Given the description of an element on the screen output the (x, y) to click on. 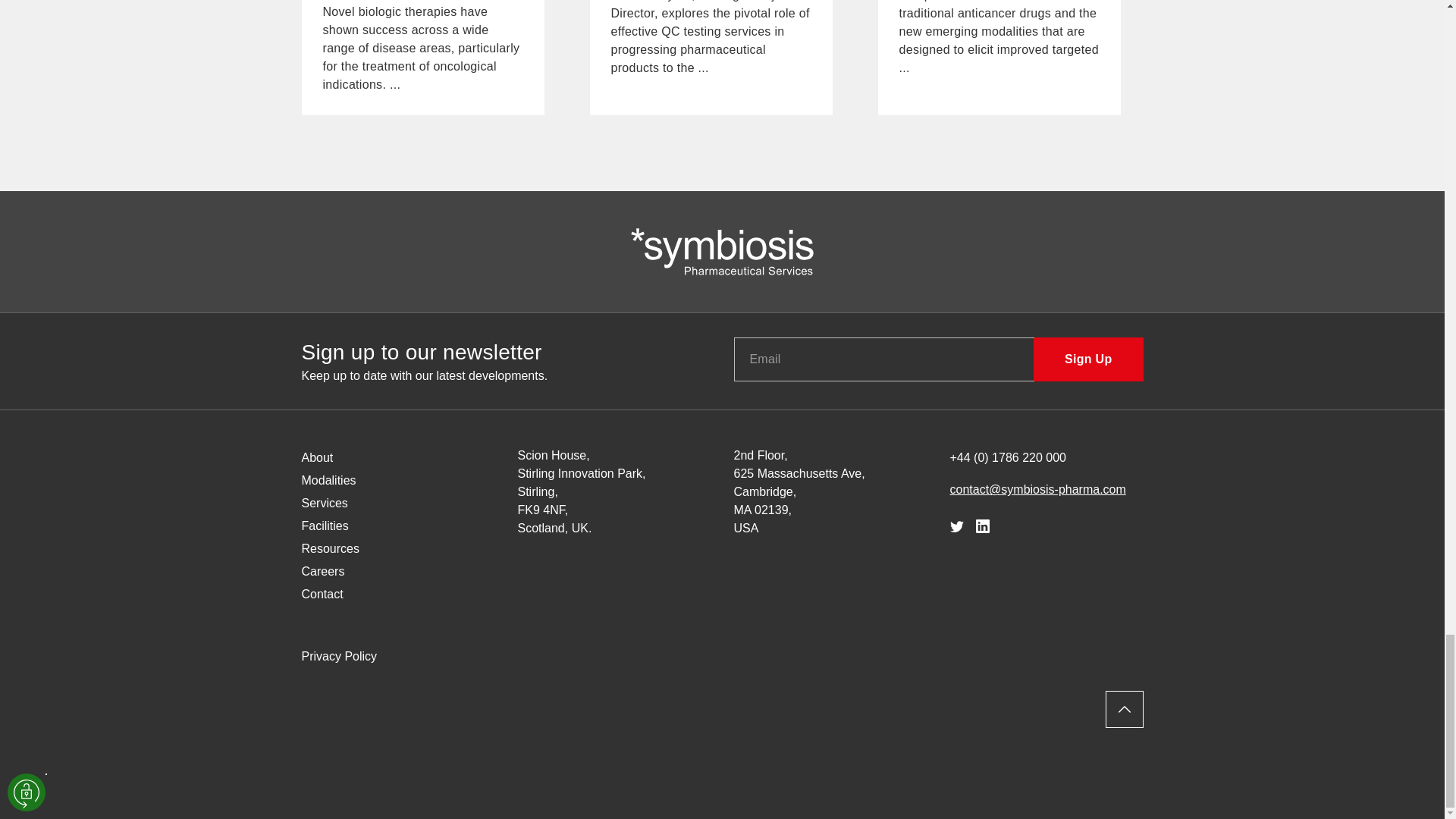
Sign Up (1087, 359)
Accept all (30, 256)
